Given the description of an element on the screen output the (x, y) to click on. 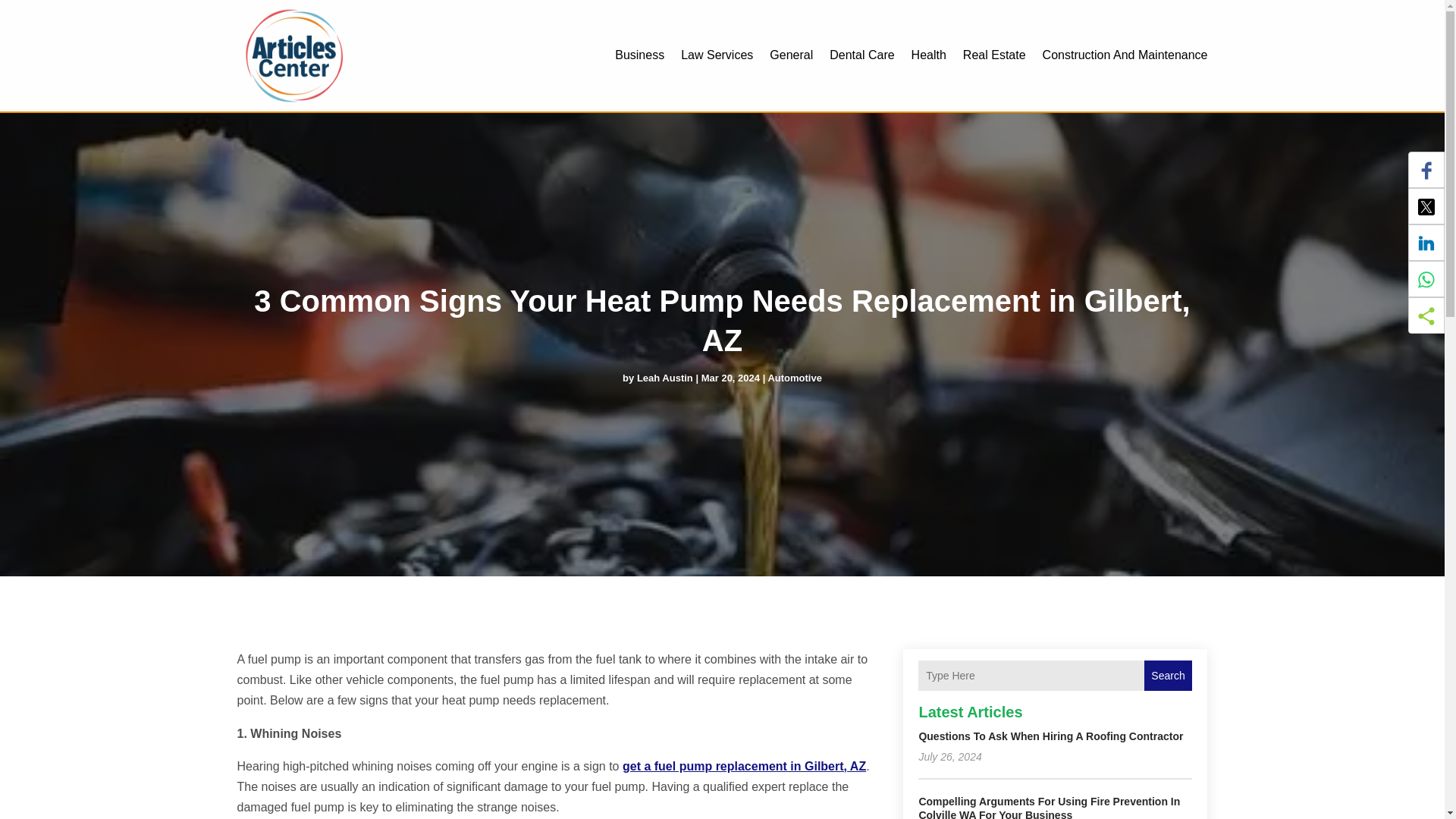
Automotive (794, 378)
get a fuel pump replacement in Gilbert, AZ (744, 766)
Search (1168, 675)
Construction And Maintenance (1125, 55)
Questions To Ask When Hiring A Roofing Contractor (1050, 736)
Posts by Leah Austin (665, 378)
Leah Austin (665, 378)
